Given the description of an element on the screen output the (x, y) to click on. 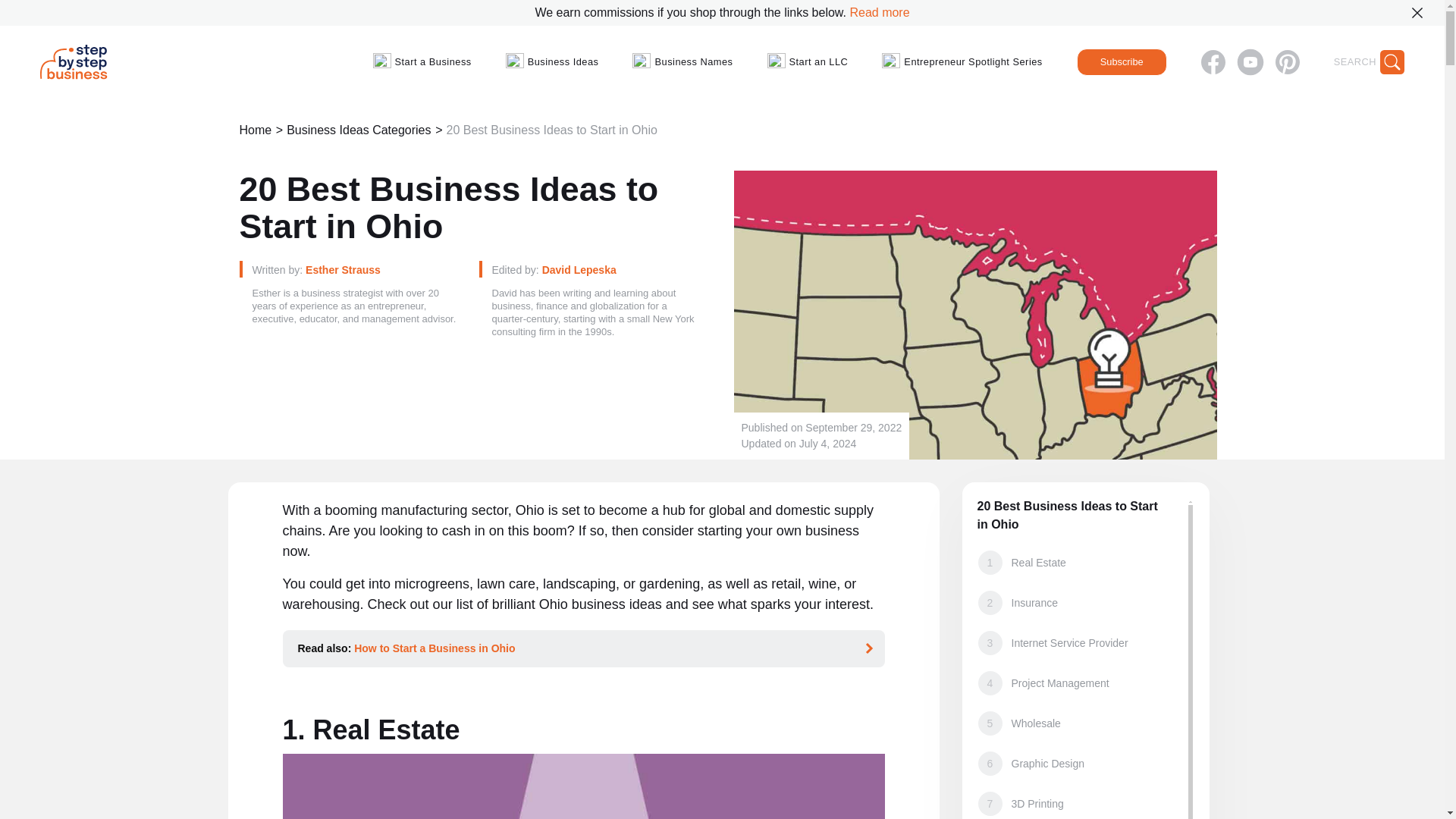
Start an LLC (807, 62)
Business Ideas (551, 62)
Posts by Esther Strauss (342, 269)
Start a Business (421, 62)
Read more (878, 11)
Business Names (681, 62)
Posts by David Lepeska (578, 269)
